Given the description of an element on the screen output the (x, y) to click on. 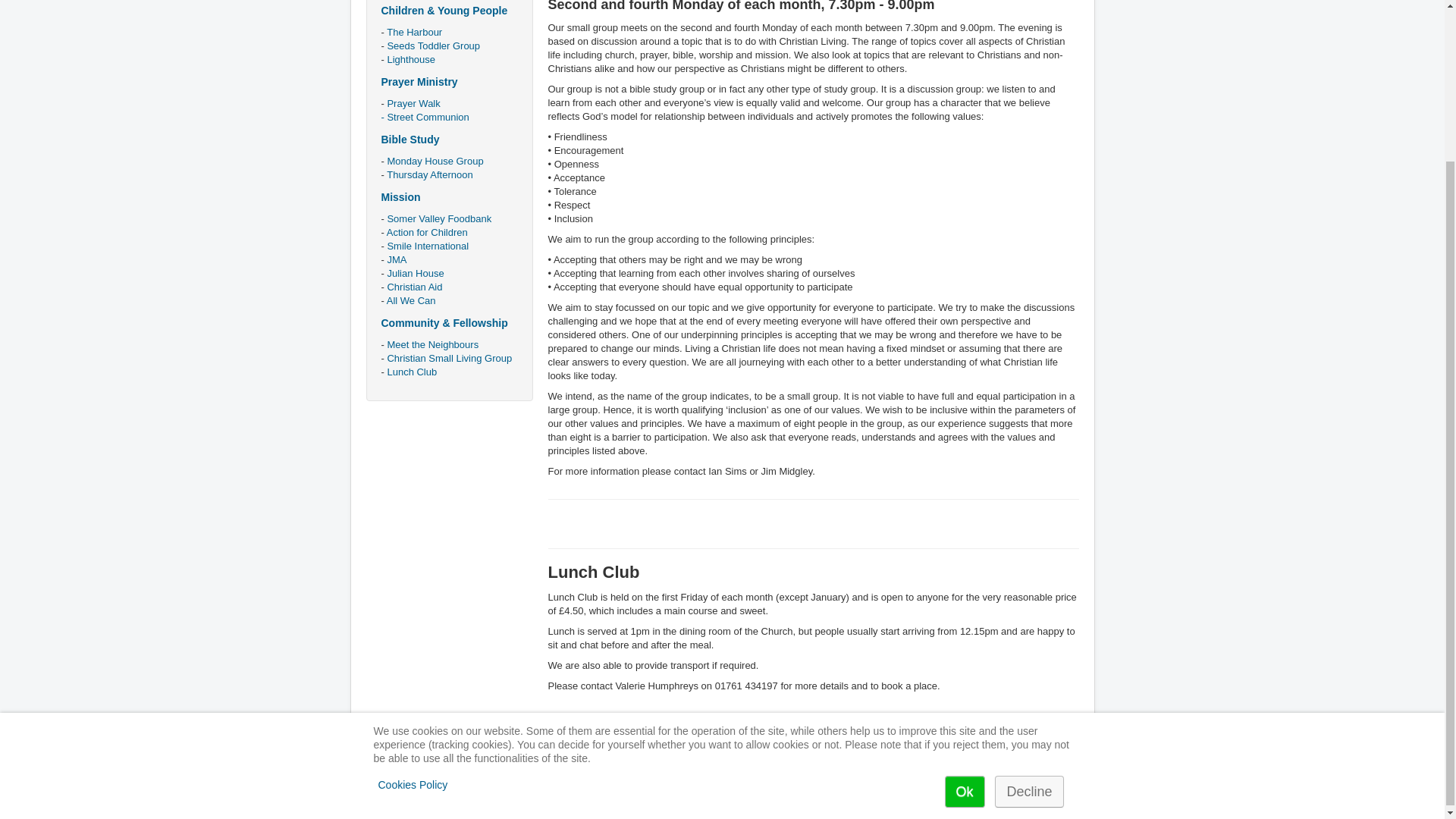
Thursday Afternoon (429, 174)
Lighthouse (411, 59)
The Harbour (414, 31)
Mission (400, 196)
Julian House (415, 273)
Bible Study (409, 139)
Bible Study (409, 139)
Seeds Toddler Group (433, 45)
Monday Evening House Group (435, 161)
Street Communion (427, 116)
